Given the description of an element on the screen output the (x, y) to click on. 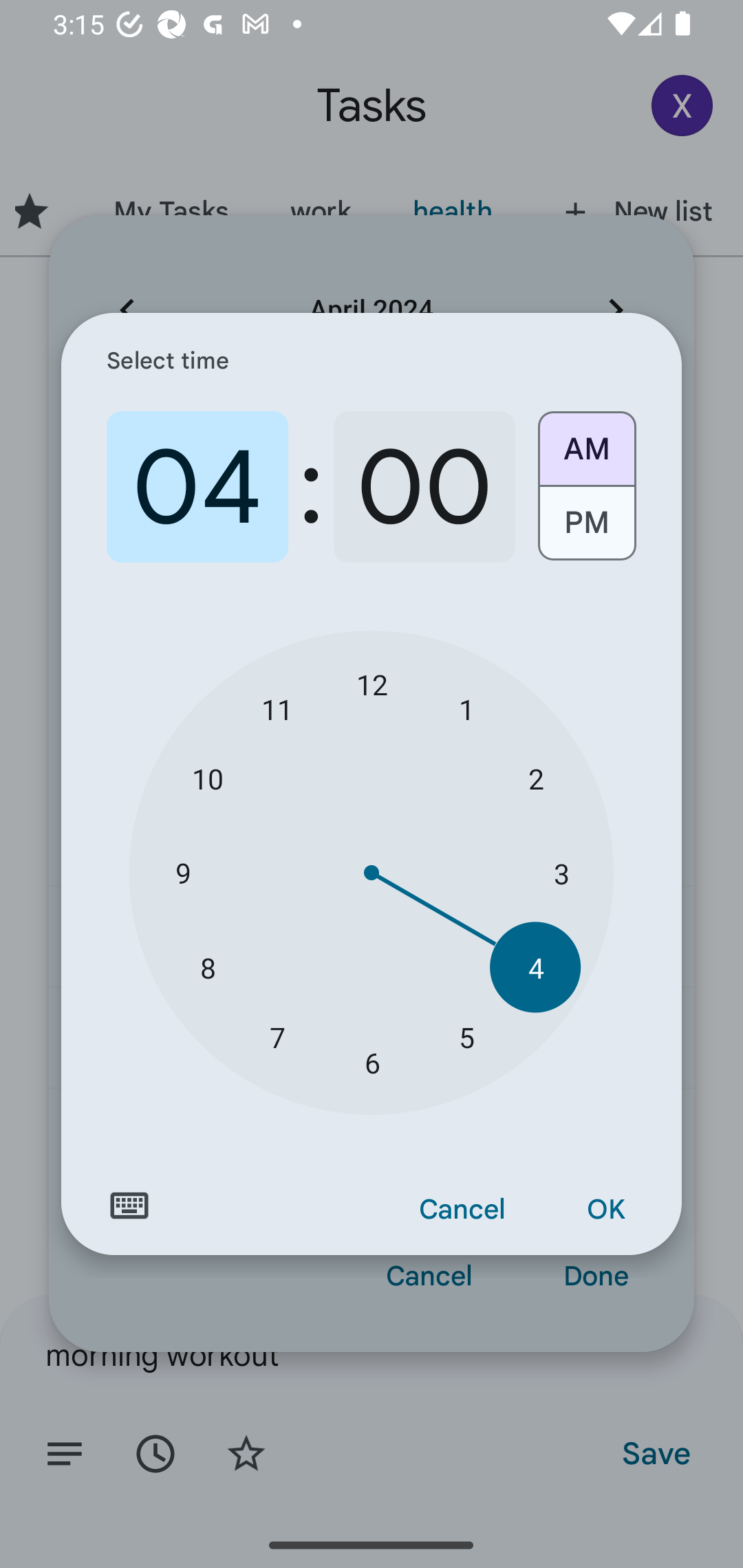
AM (586, 441)
04 4 o'clock (197, 486)
00 0 minutes (424, 486)
PM (586, 529)
12 12 o'clock (371, 683)
11 11 o'clock (276, 708)
1 1 o'clock (466, 708)
10 10 o'clock (207, 778)
2 2 o'clock (535, 778)
9 9 o'clock (182, 872)
3 3 o'clock (561, 872)
8 8 o'clock (207, 966)
4 4 o'clock (535, 966)
7 7 o'clock (276, 1035)
5 5 o'clock (466, 1035)
6 6 o'clock (371, 1062)
Switch to text input mode for the time input. (128, 1205)
Cancel (462, 1209)
OK (605, 1209)
